Given the description of an element on the screen output the (x, y) to click on. 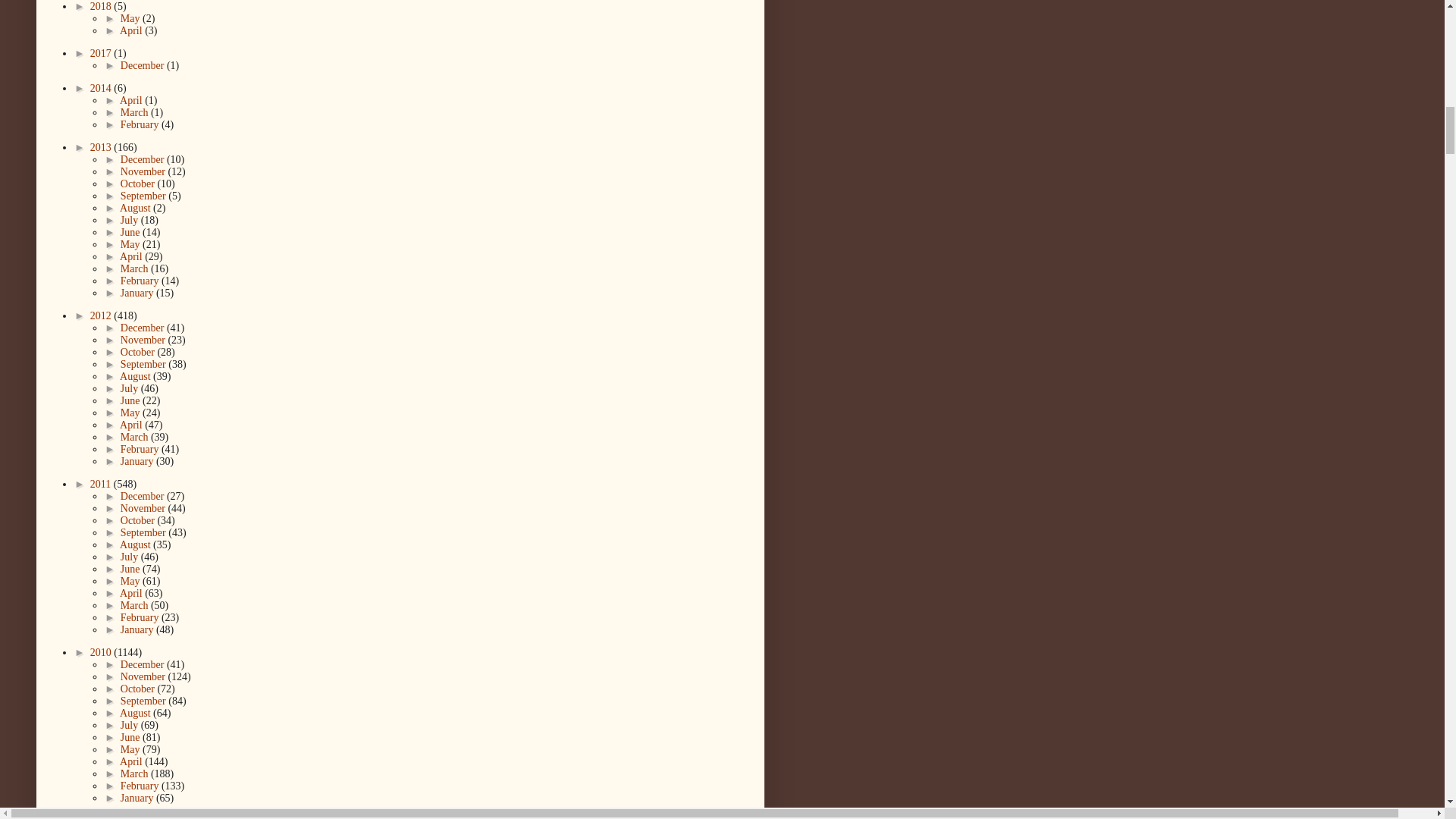
April (131, 30)
2018 (102, 6)
May (131, 18)
